Given the description of an element on the screen output the (x, y) to click on. 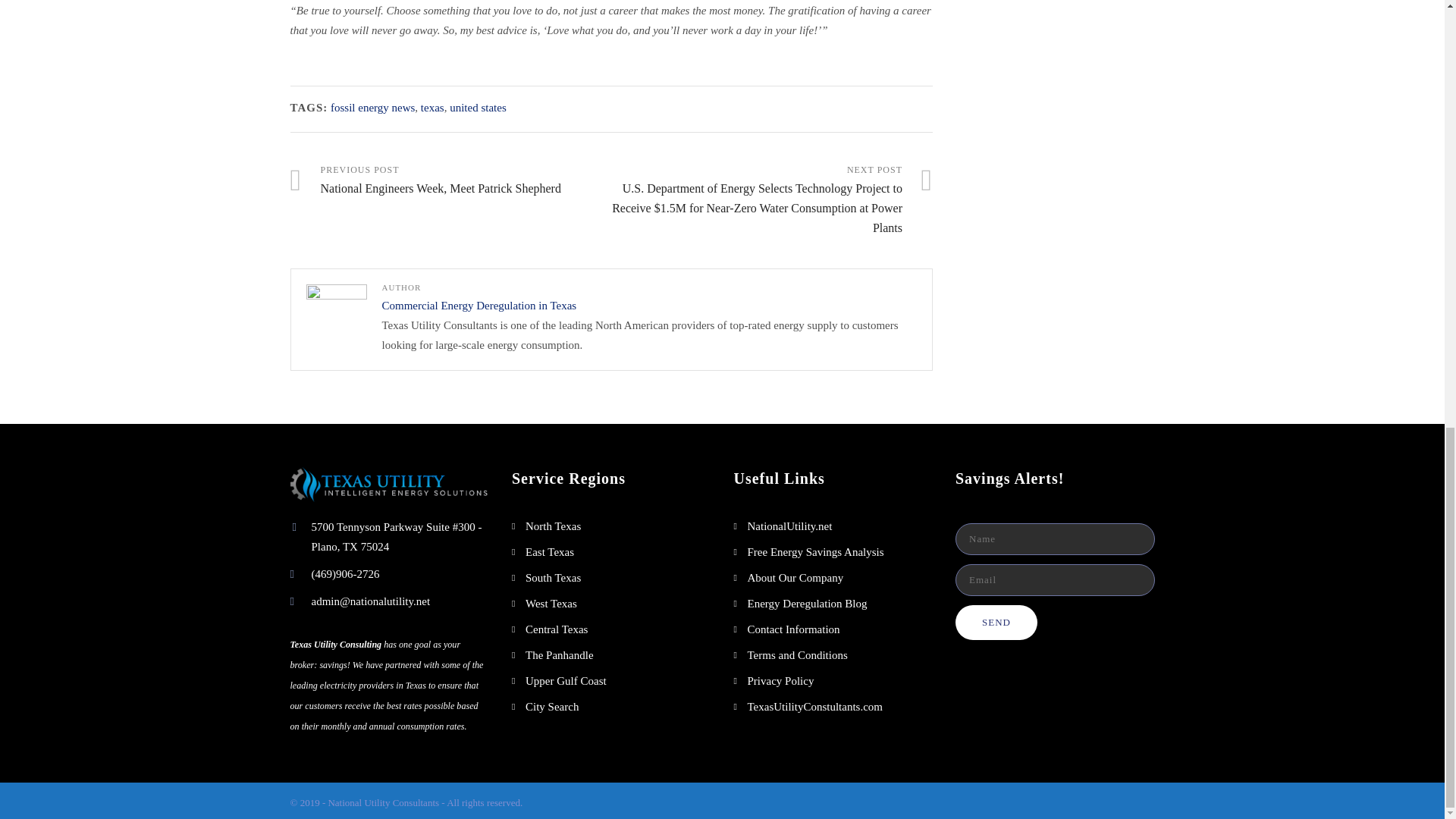
united states (477, 107)
The Panhandle (559, 654)
fossil energy news (372, 107)
East Texas (450, 180)
National Engineers Week, Meet Patrick Shepherd (549, 551)
Central Texas (450, 180)
Commercial Energy Deregulation in Texas (556, 629)
West Texas (478, 305)
texas (550, 603)
